Given the description of an element on the screen output the (x, y) to click on. 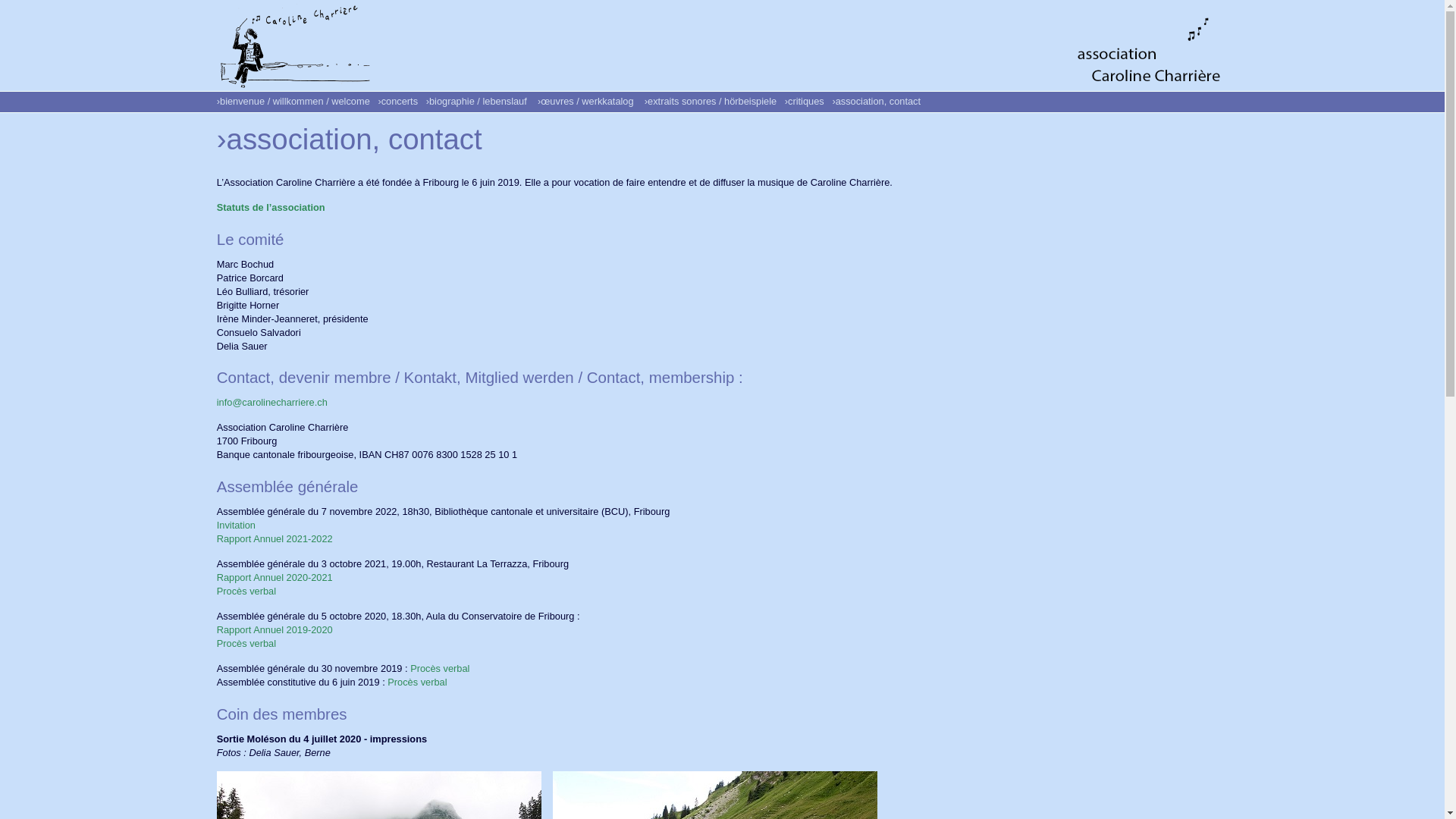
bienvenue / willkommen / welcome Element type: text (294, 100)
Rapport Annuel 2019-2020 Element type: text (274, 629)
association, contact Element type: text (877, 100)
Rapport Annuel 2020-2021 Element type: text (274, 577)
Invitation Element type: text (235, 524)
biographie / lebenslauf Element type: text (479, 100)
info@carolinecharriere.ch Element type: text (271, 401)
critiques Element type: text (805, 100)
concerts Element type: text (399, 100)
Rapport Annuel 2021-2022 Element type: text (274, 538)
